Given the description of an element on the screen output the (x, y) to click on. 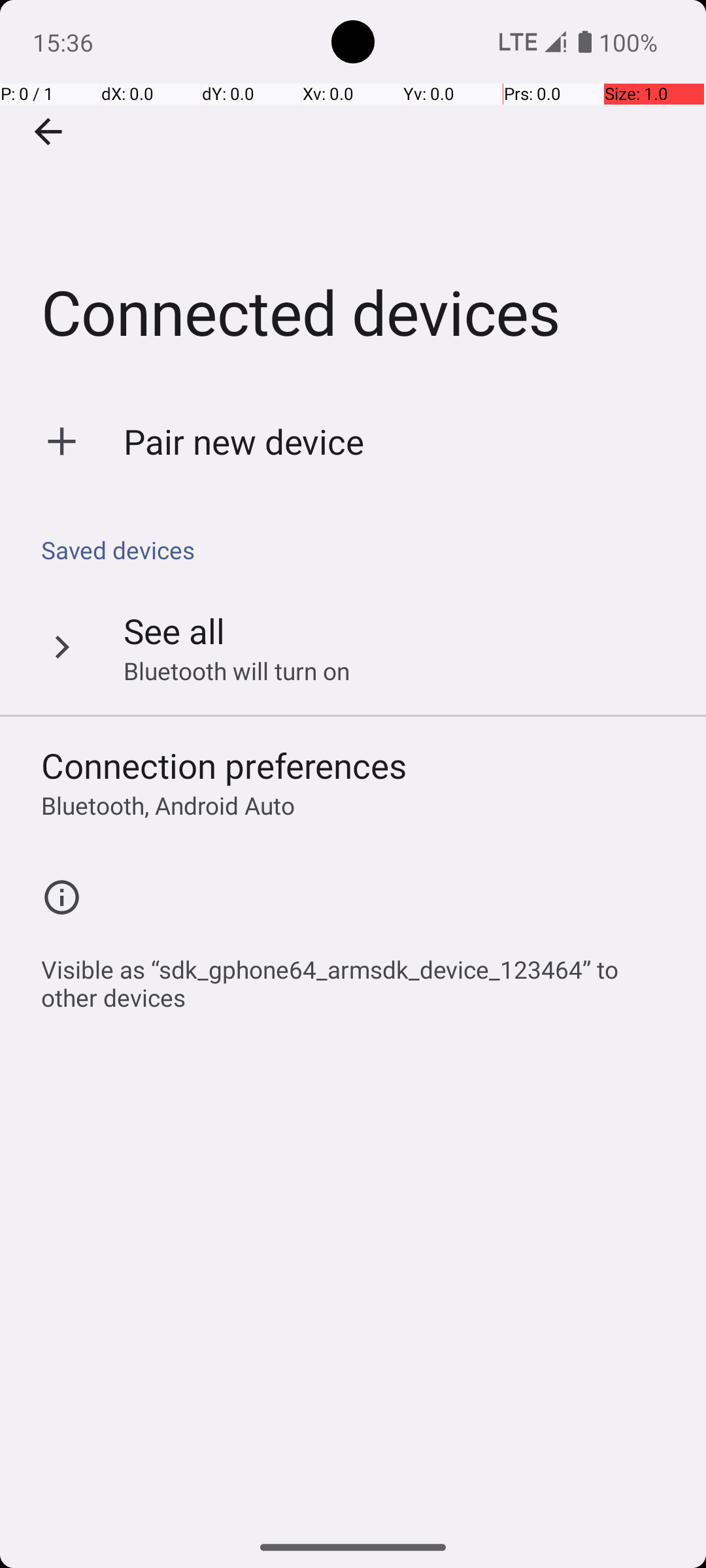
Pair new device Element type: android.widget.TextView (243, 441)
Saved devices Element type: android.widget.TextView (359, 549)
See all Element type: android.widget.TextView (173, 630)
Bluetooth will turn on Element type: android.widget.TextView (236, 670)
Connection preferences Element type: android.widget.TextView (224, 765)
Bluetooth, Android Auto Element type: android.widget.TextView (167, 804)
Visible as “sdk_gphone64_armsdk_device_123464” to other devices Element type: android.widget.TextView (359, 976)
